Given the description of an element on the screen output the (x, y) to click on. 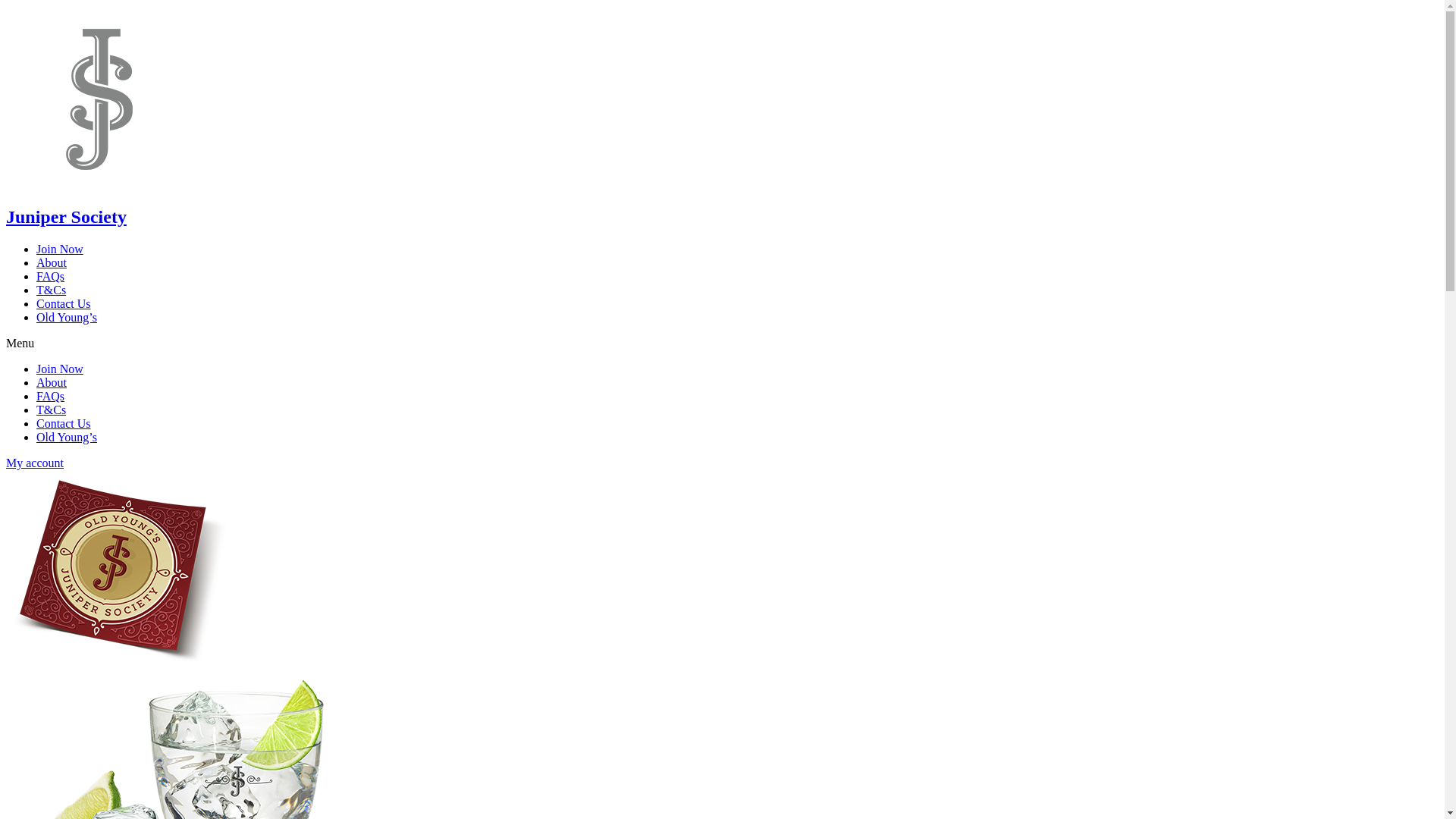
T&Cs Element type: text (50, 409)
FAQs Element type: text (50, 275)
Contact Us Element type: text (63, 303)
Contact Us Element type: text (63, 423)
About Element type: text (51, 262)
My account Element type: text (34, 462)
About Element type: text (51, 382)
Join Now Element type: text (59, 248)
FAQs Element type: text (50, 395)
Join Now Element type: text (59, 368)
Juniper Society Element type: text (66, 216)
T&Cs Element type: text (50, 289)
